Given the description of an element on the screen output the (x, y) to click on. 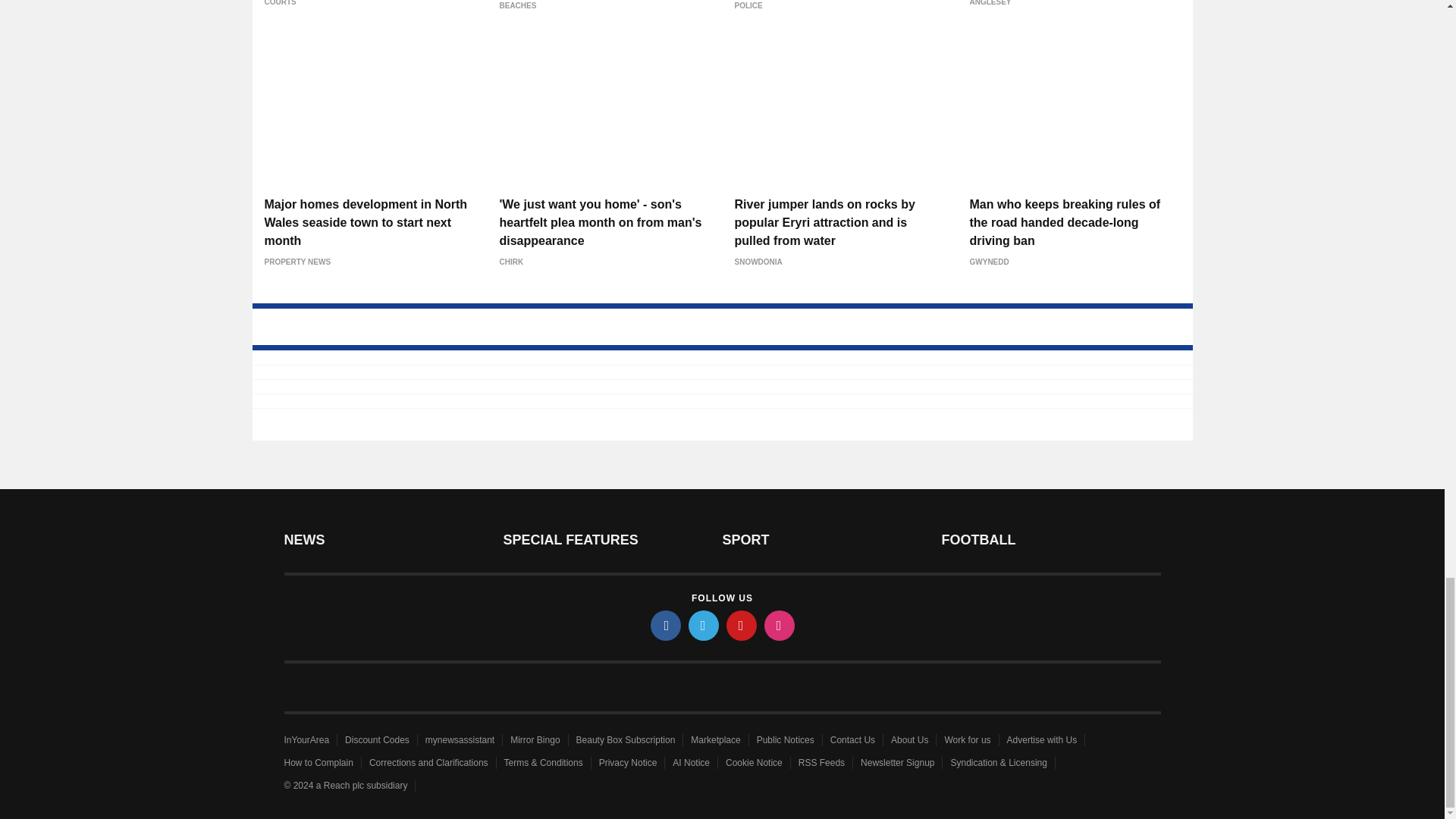
facebook (665, 625)
instagram (779, 625)
twitter (703, 625)
pinterest (741, 625)
